Given the description of an element on the screen output the (x, y) to click on. 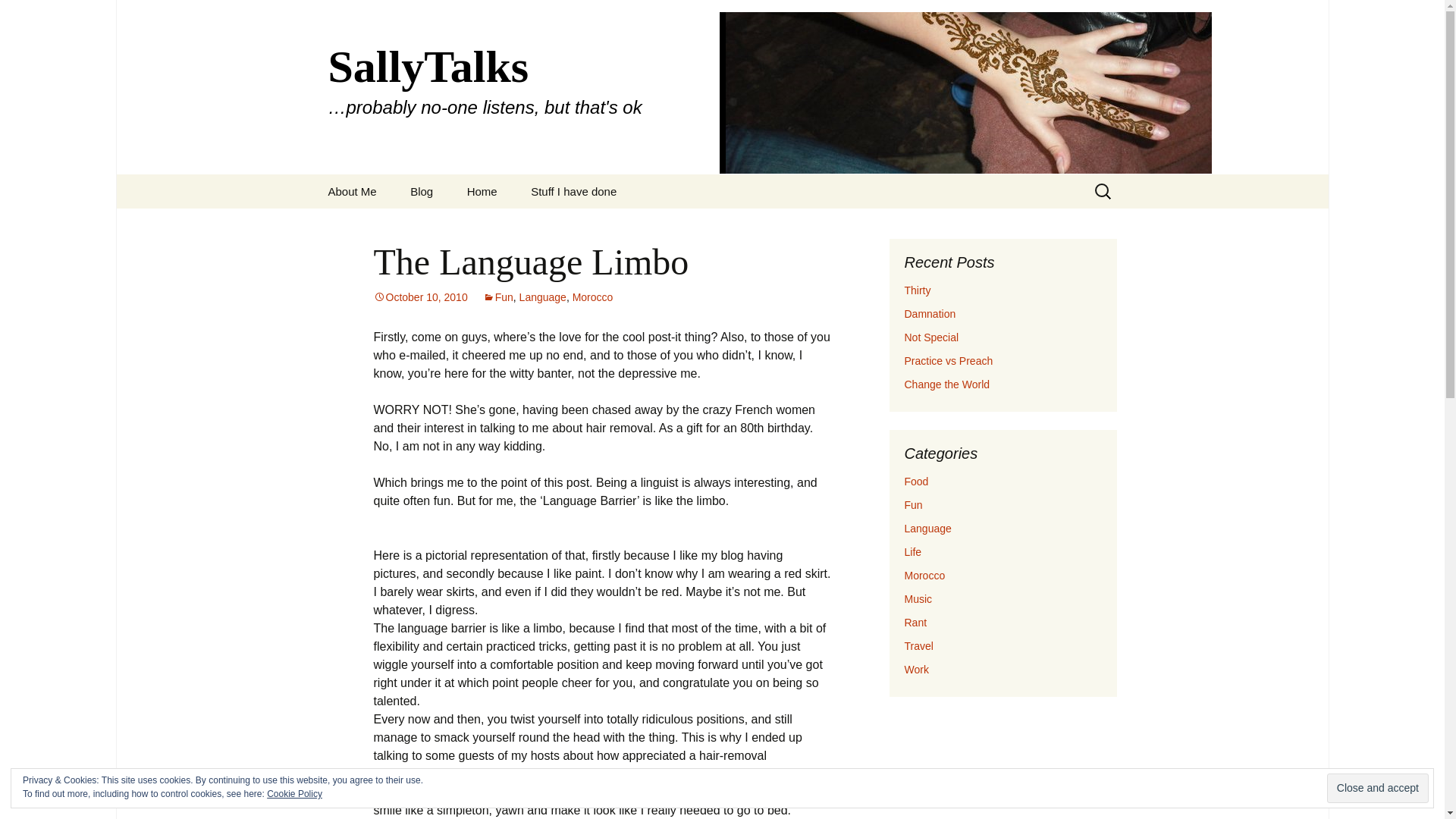
Fun (912, 504)
October 10, 2010 (419, 297)
Language (542, 297)
Damnation (929, 313)
Rant (915, 622)
Language (927, 528)
Music (917, 598)
Morocco (592, 297)
